Given the description of an element on the screen output the (x, y) to click on. 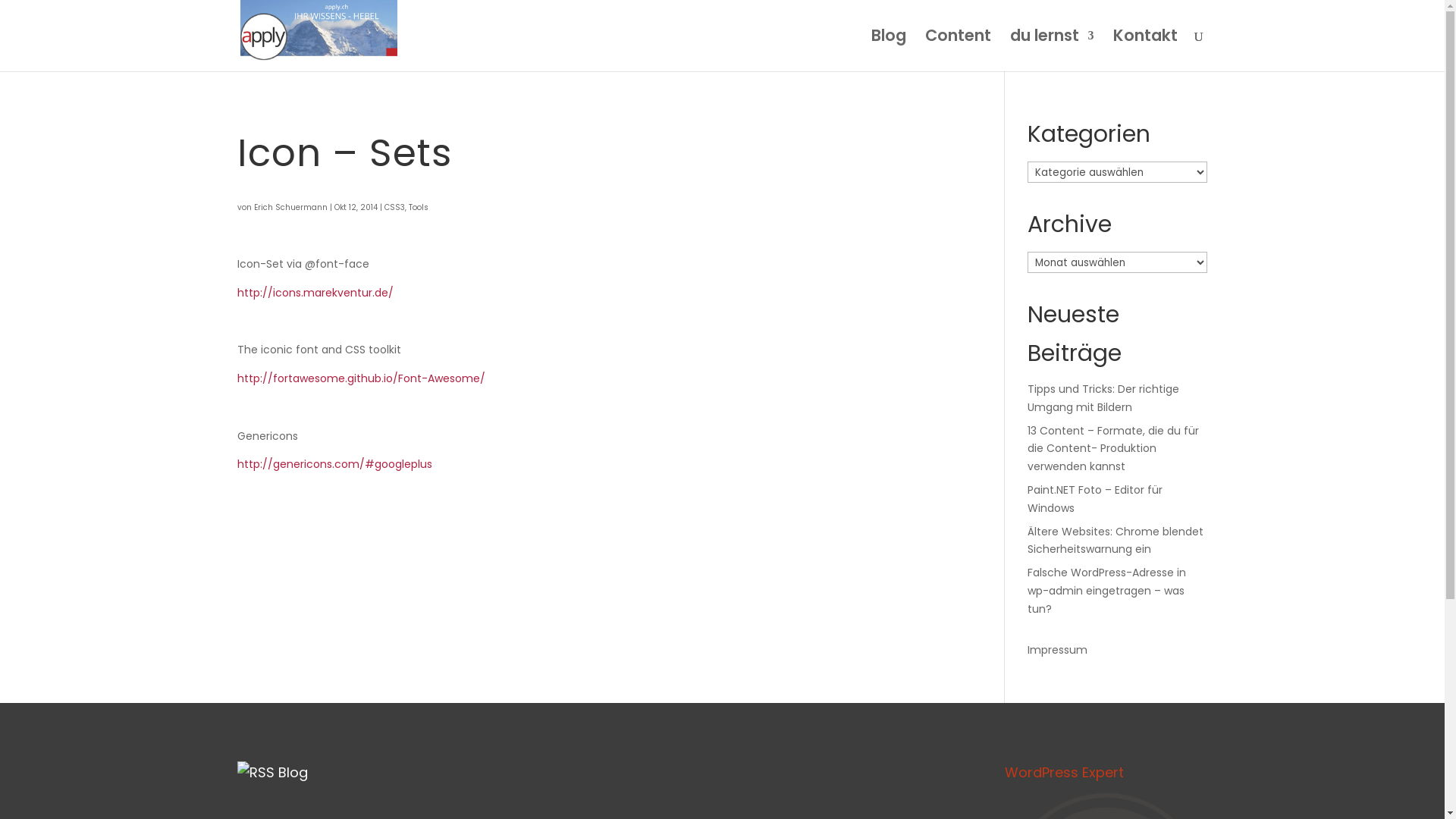
Tools Element type: text (417, 207)
Kontakt Element type: text (1145, 50)
http://fortawesome.github.io/Font-Awesome/ Element type: text (360, 377)
Erich Schuermann Element type: text (289, 207)
http://genericons.com/#googleplus Element type: text (333, 463)
du lernst Element type: text (1052, 50)
http://icons.marekventur.de/ Element type: text (314, 292)
Blog Element type: text (292, 771)
CSS3 Element type: text (393, 207)
Impressum Element type: text (1057, 649)
Blog Element type: text (887, 50)
Content Element type: text (958, 50)
Tipps und Tricks: Der richtige Umgang mit Bildern Element type: text (1103, 397)
